Given the description of an element on the screen output the (x, y) to click on. 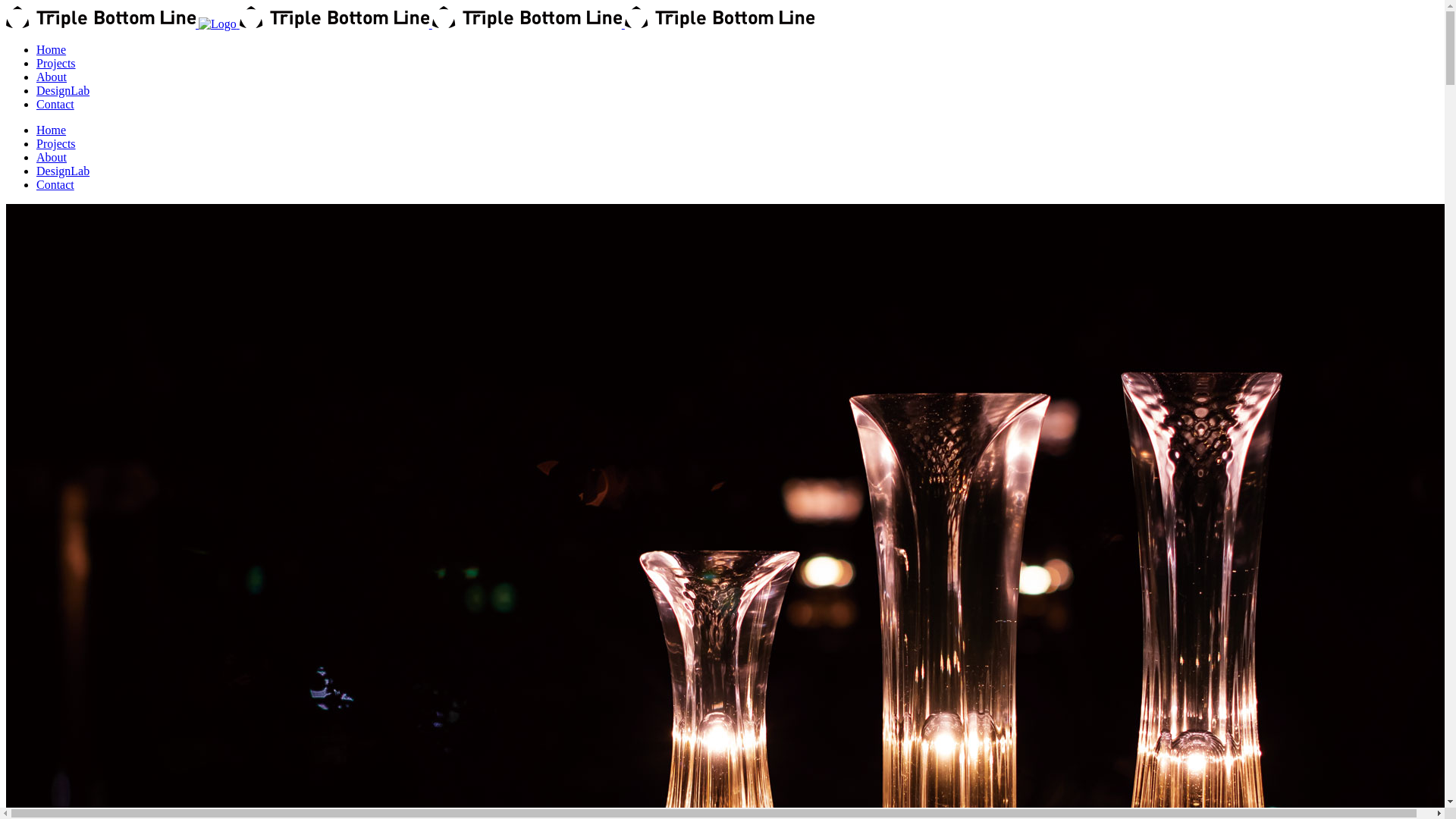
Home Element type: text (50, 129)
Contact Element type: text (55, 103)
Projects Element type: text (55, 62)
Home Element type: text (50, 49)
About Element type: text (51, 156)
DesignLab Element type: text (62, 170)
About Element type: text (51, 76)
DesignLab Element type: text (62, 90)
Projects Element type: text (55, 143)
Contact Element type: text (55, 184)
